Given the description of an element on the screen output the (x, y) to click on. 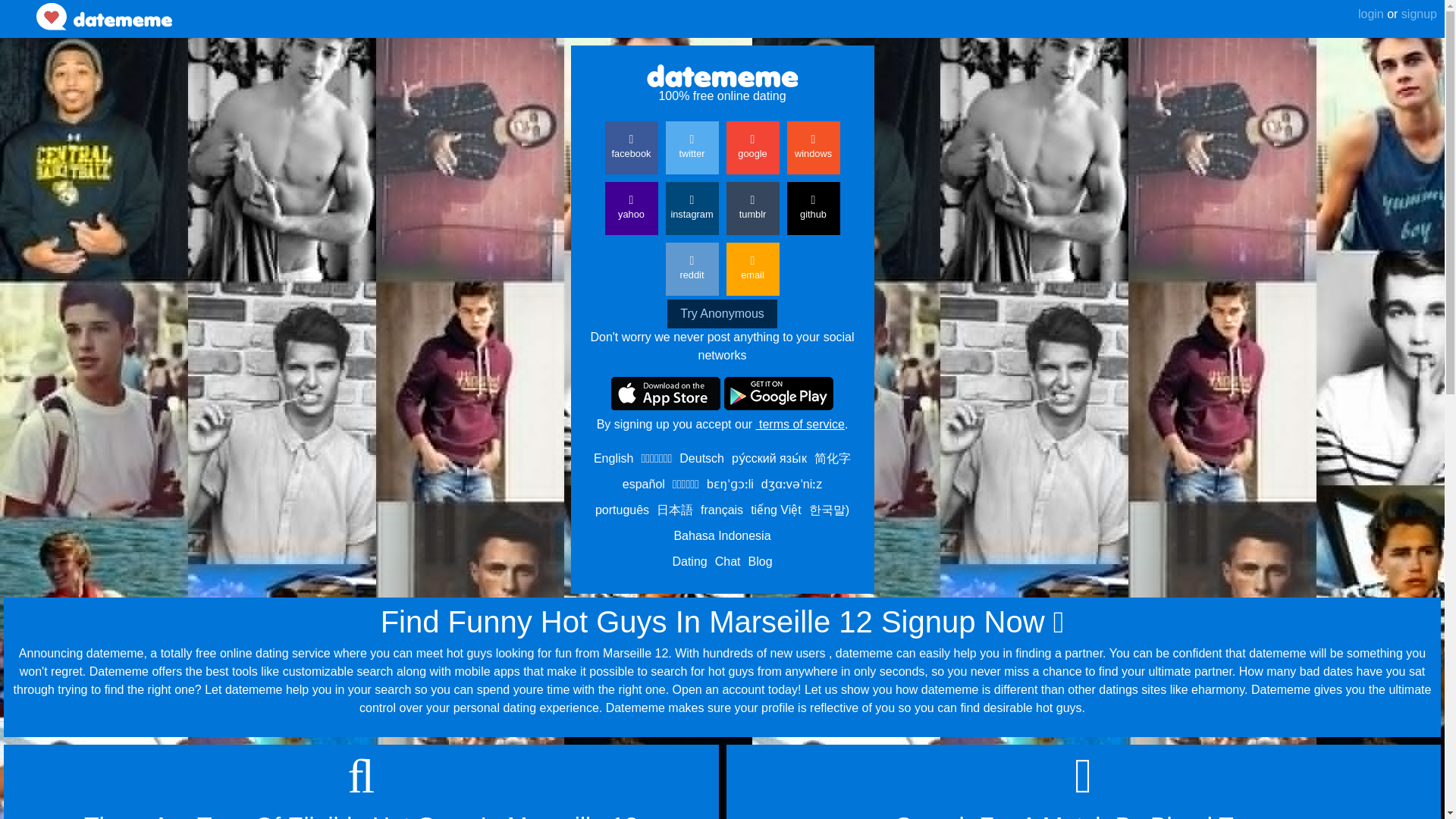
back (17, 6)
twitter (692, 147)
login (1371, 14)
Dating (688, 561)
Chat (727, 561)
email (752, 268)
google (752, 147)
English (613, 458)
Blog (759, 561)
tumblr (752, 208)
